Given the description of an element on the screen output the (x, y) to click on. 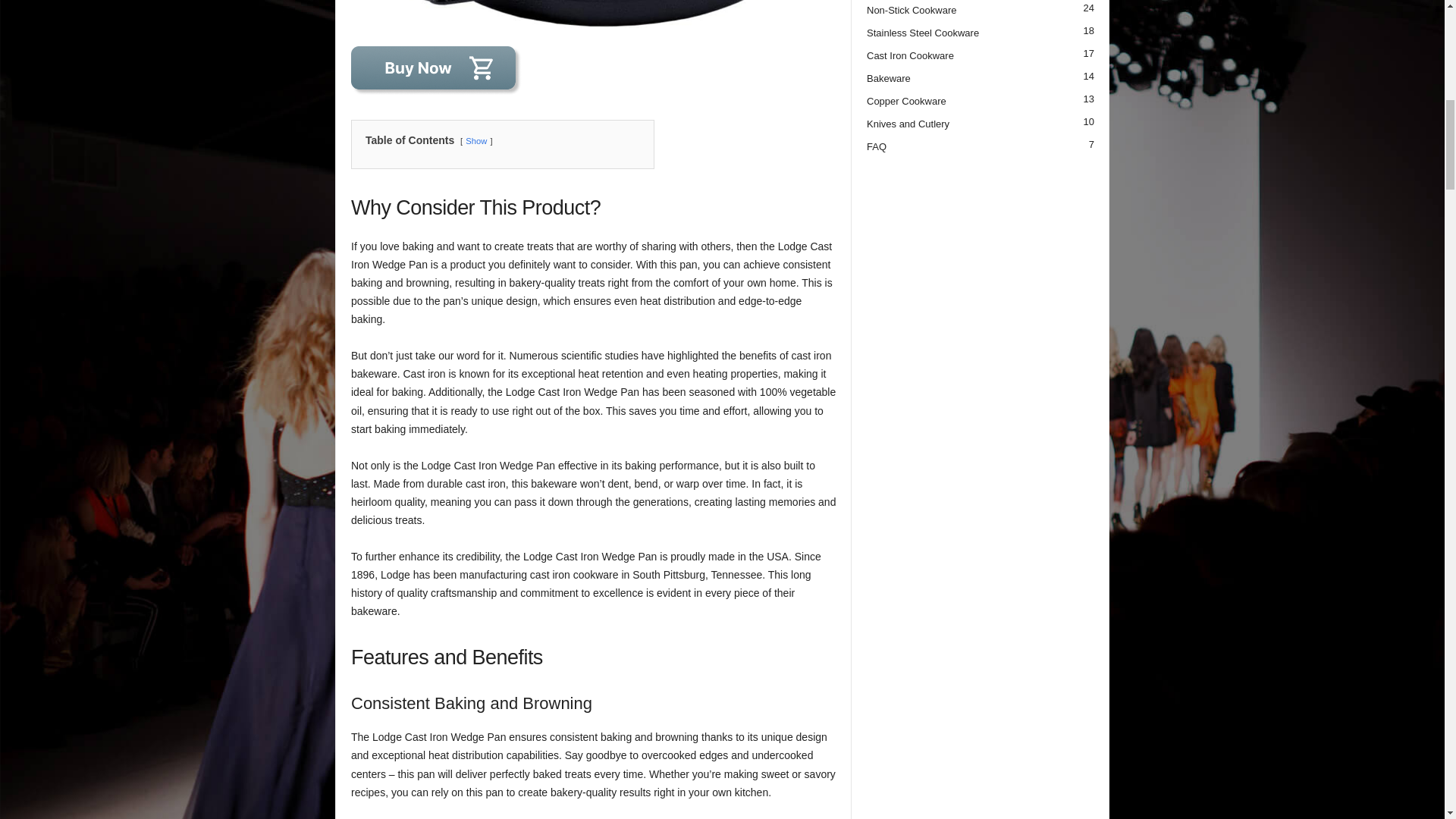
Click to view the Lodge Cast Iron Wedge Pan. (592, 70)
Show (475, 140)
Lodge Cast Iron Wedge Pan (592, 13)
